Given the description of an element on the screen output the (x, y) to click on. 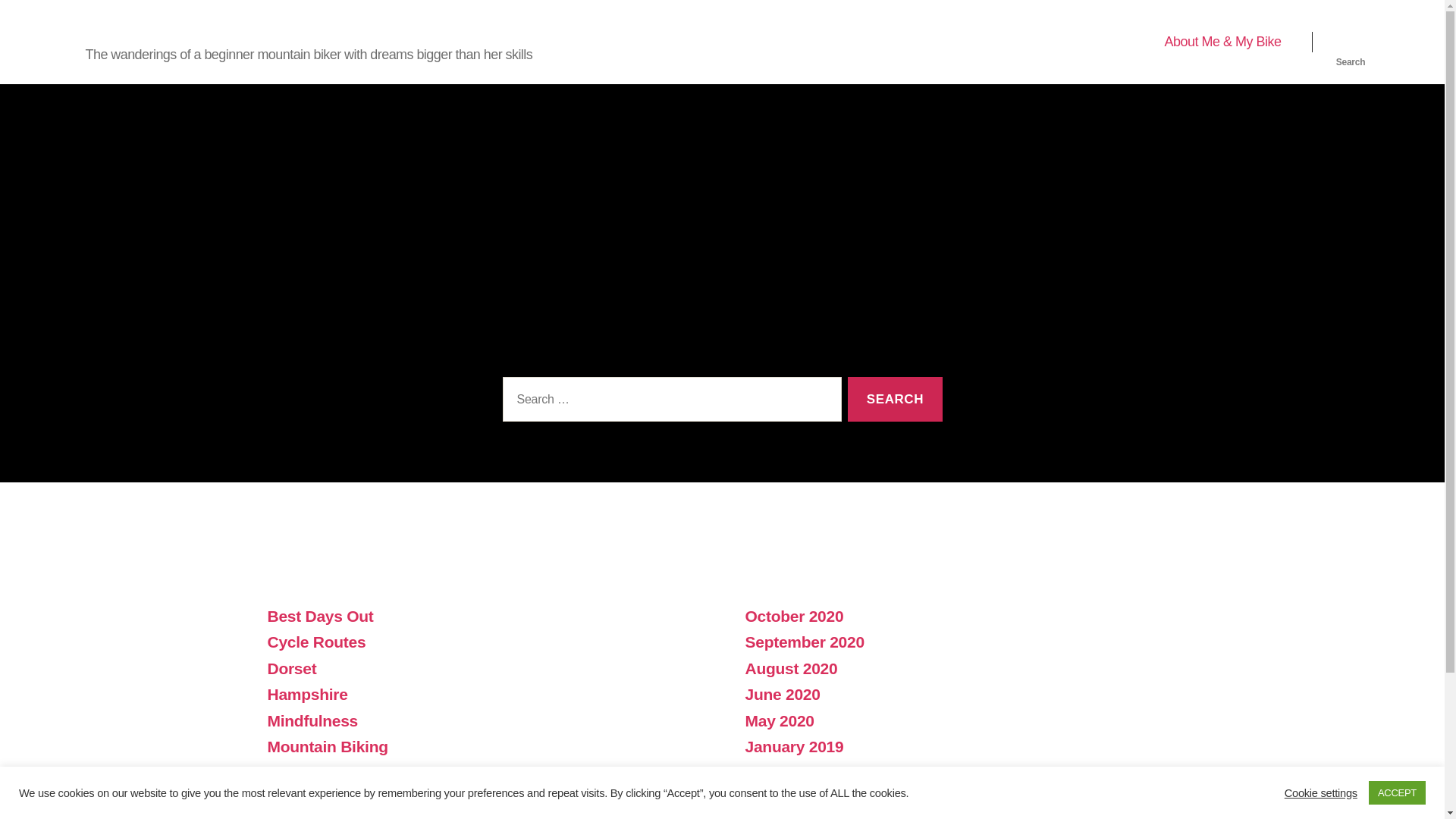
Search (894, 398)
Search (894, 398)
Best Days Out (319, 615)
Surrey (290, 798)
Dorset (290, 668)
Mountain Biking (326, 746)
June 2020 (781, 693)
September 2020 (803, 641)
May 2020 (778, 720)
Search (1350, 41)
